Given the description of an element on the screen output the (x, y) to click on. 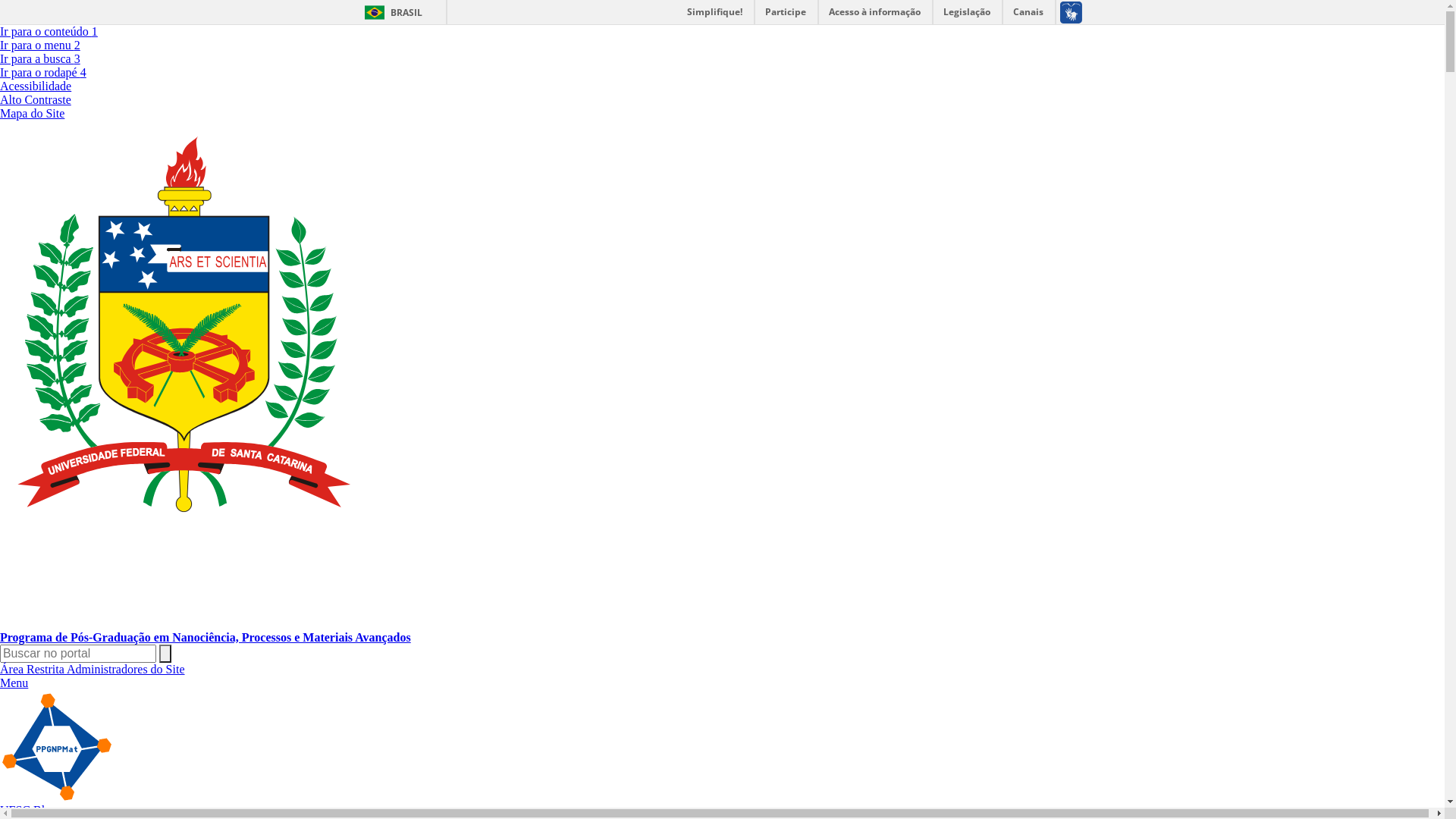
Ir para o menu 2 Element type: text (40, 44)
Alto Contraste Element type: text (35, 99)
Ir para a busca 3 Element type: text (40, 58)
Administradores do Site Element type: text (125, 668)
BRASIL Element type: text (389, 12)
UFSC Blumenau Element type: text (41, 809)
Mapa do Site Element type: text (32, 112)
Acessibilidade Element type: text (35, 85)
Menu Element type: text (14, 682)
